Given the description of an element on the screen output the (x, y) to click on. 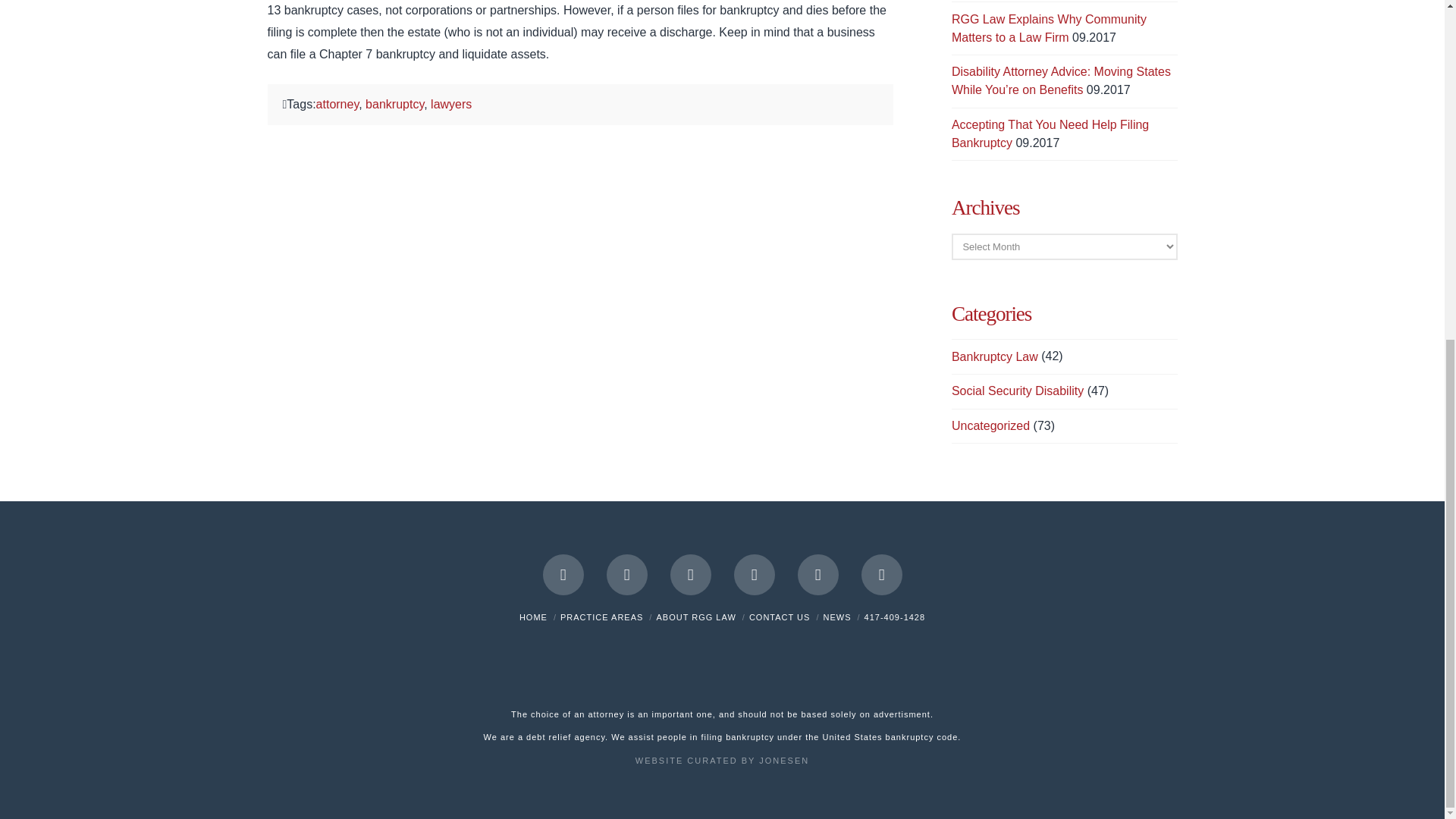
Twitter (627, 574)
YouTube (817, 574)
LinkedIn (753, 574)
Vimeo (881, 574)
Facebook (563, 574)
Jonesen (721, 759)
